Given the description of an element on the screen output the (x, y) to click on. 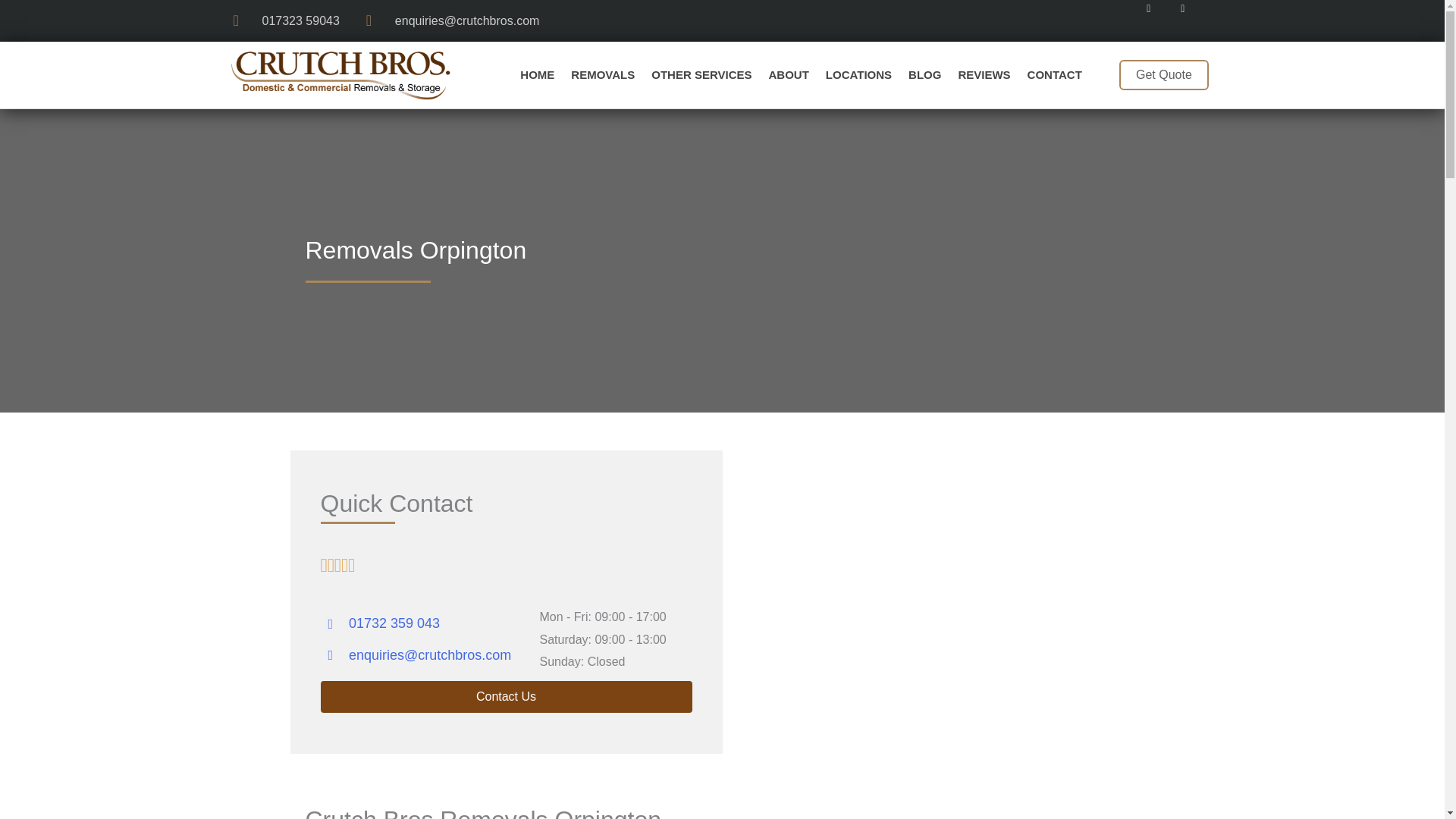
Orpington (938, 601)
REMOVALS (602, 74)
017323 59043 (285, 20)
LOCATIONS (857, 74)
REVIEWS (983, 74)
CONTACT (1054, 74)
OTHER SERVICES (701, 74)
